Given the description of an element on the screen output the (x, y) to click on. 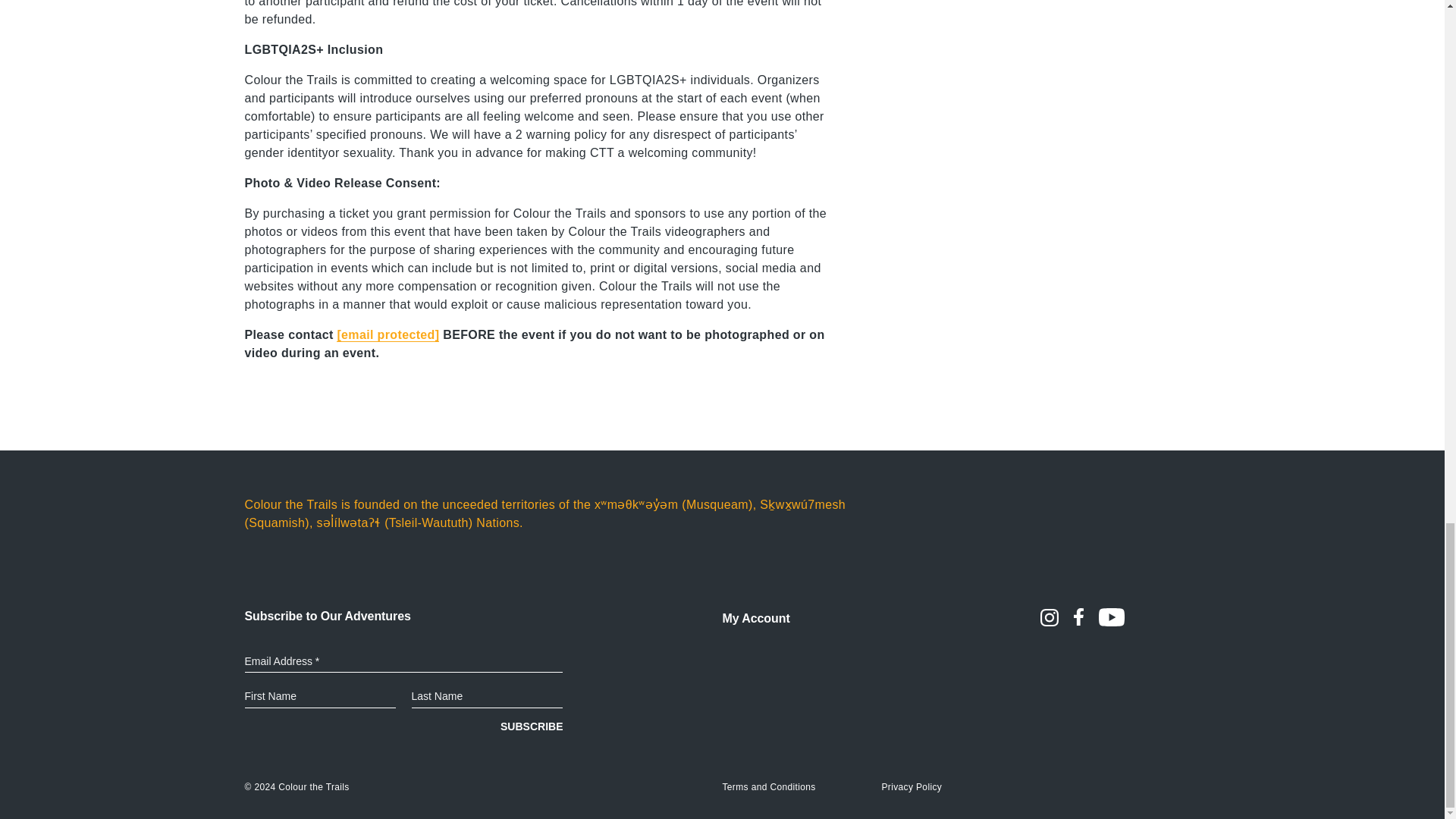
Instagram (1057, 621)
Subscribe (531, 722)
Subscribe (531, 722)
Youtube (1118, 621)
My Account (755, 618)
Colour the Trails (313, 787)
Privacy Policy (911, 787)
Facebook (1086, 621)
Terms and Conditions (768, 787)
